Given the description of an element on the screen output the (x, y) to click on. 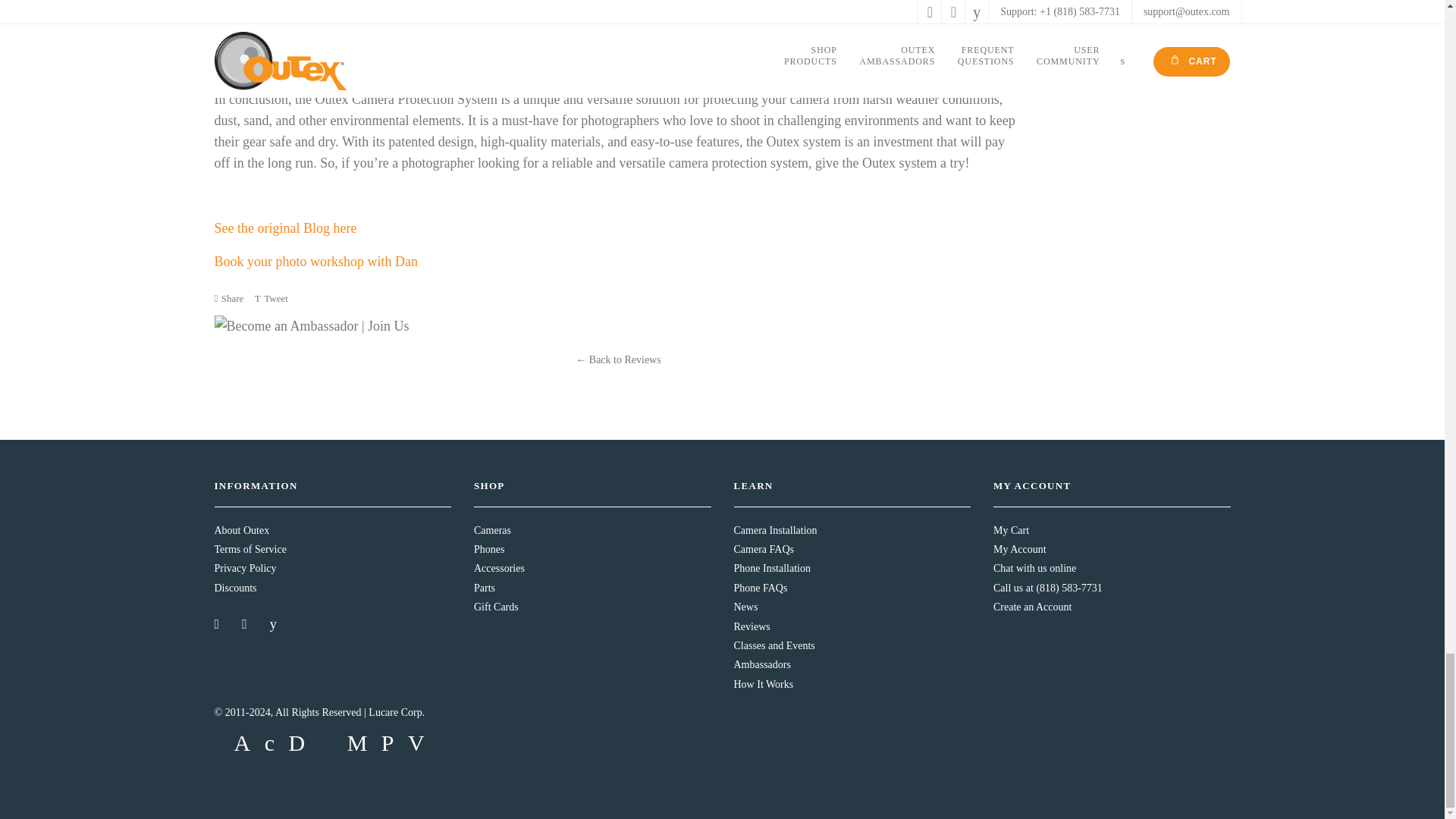
Outex Underwater Camera Housings on YouTube (275, 623)
Book your photo workshop with Dan (315, 261)
Dan M Lee Outex review (285, 227)
